Given the description of an element on the screen output the (x, y) to click on. 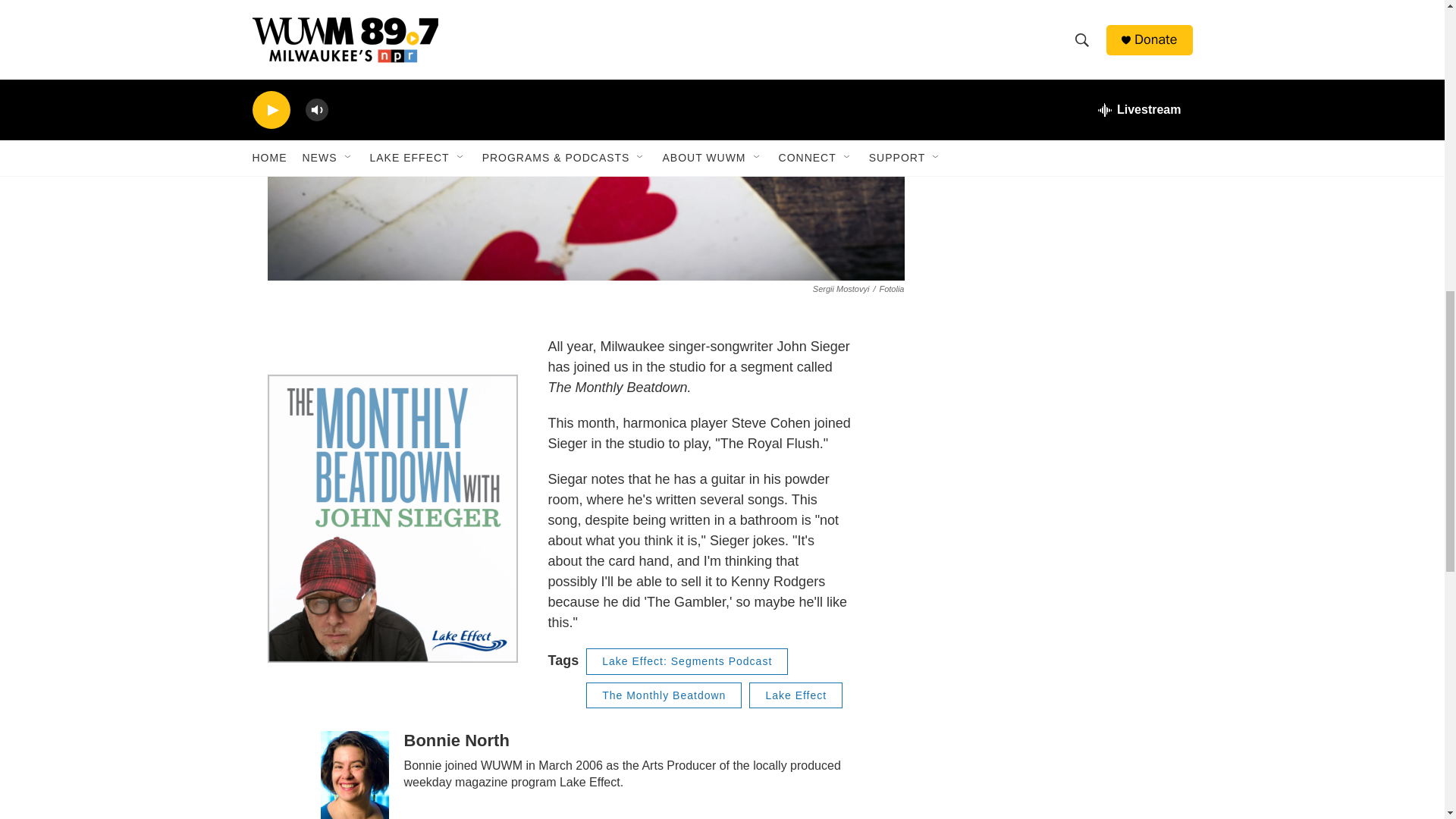
3rd party ad content (1062, 39)
3rd party ad content (1062, 222)
